Given the description of an element on the screen output the (x, y) to click on. 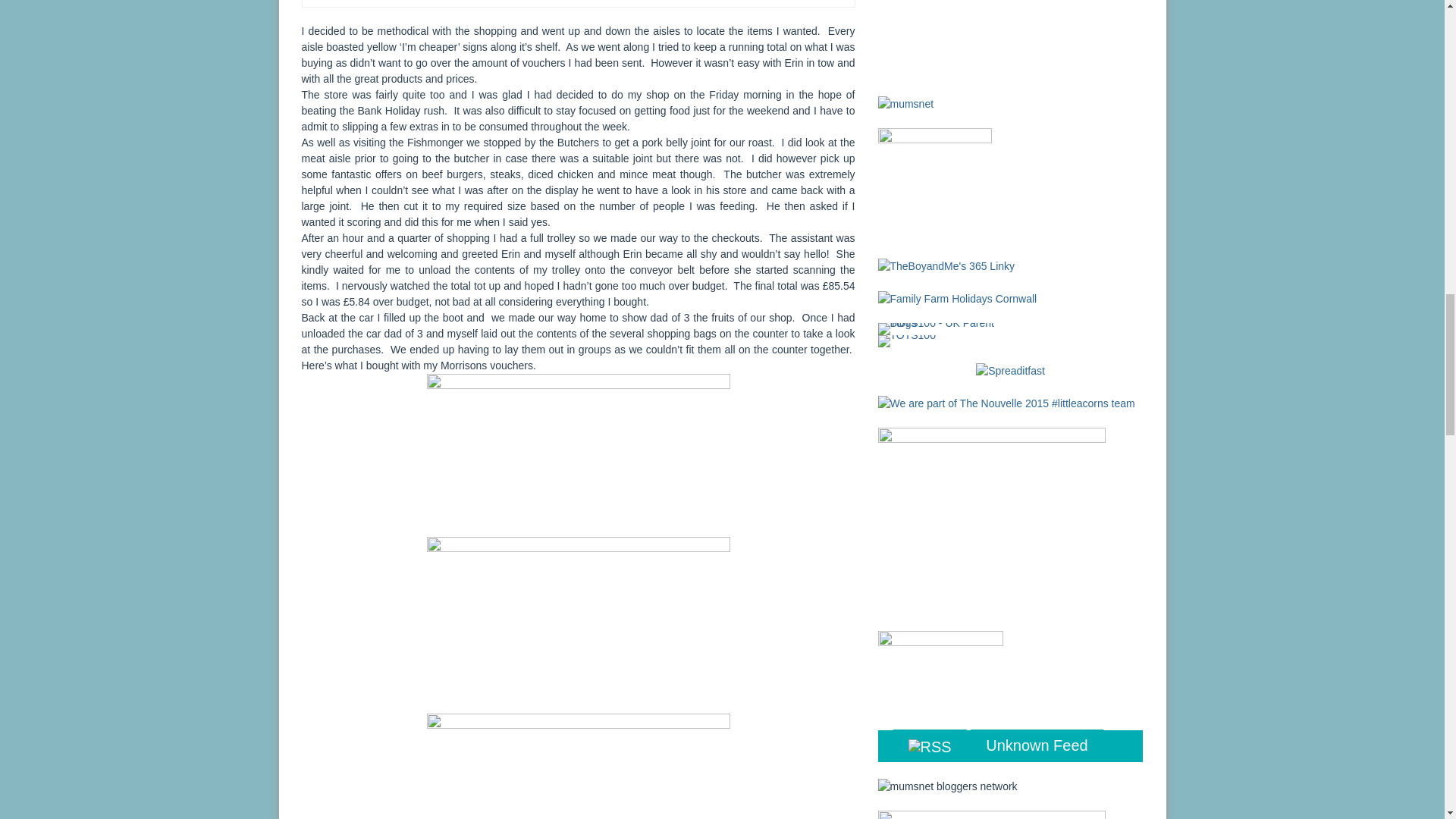
Family Farm Holidays Cornwall (956, 299)
Family Farm Holidays Cornwall (956, 297)
TOTS100 (906, 339)
TOTS 100 - UK Parent Blogs (940, 327)
TOTS100 - UK Parent Blogs (940, 328)
TheBoyandMe's 365 Linky (945, 265)
